Given the description of an element on the screen output the (x, y) to click on. 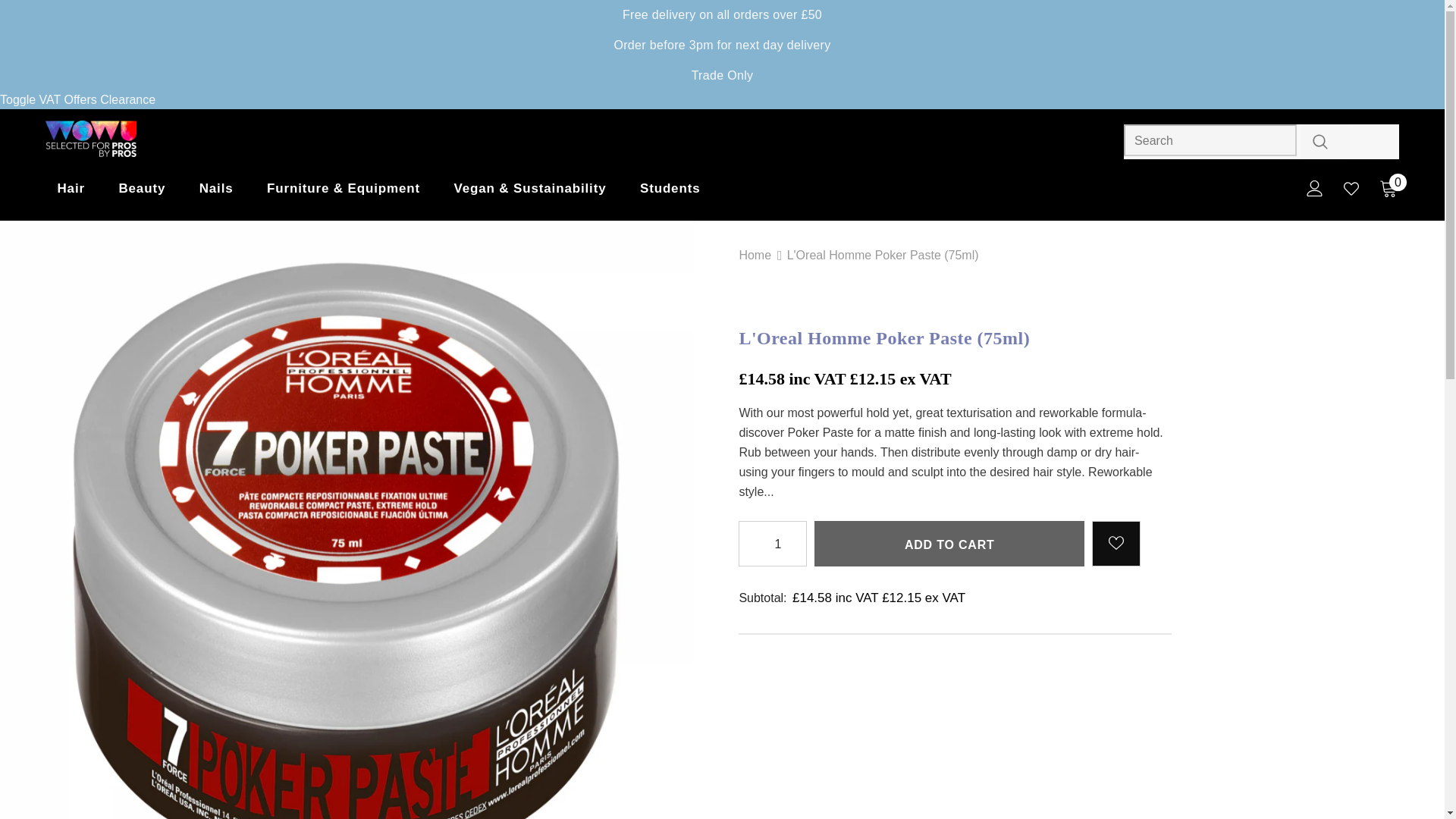
Students (670, 192)
Offers (80, 99)
Add to cart (948, 543)
Cart Icon (1387, 188)
Logo (134, 139)
Toggle VAT (30, 99)
1 (772, 543)
Clearance (127, 99)
Home (754, 255)
Beauty (141, 192)
